Given the description of an element on the screen output the (x, y) to click on. 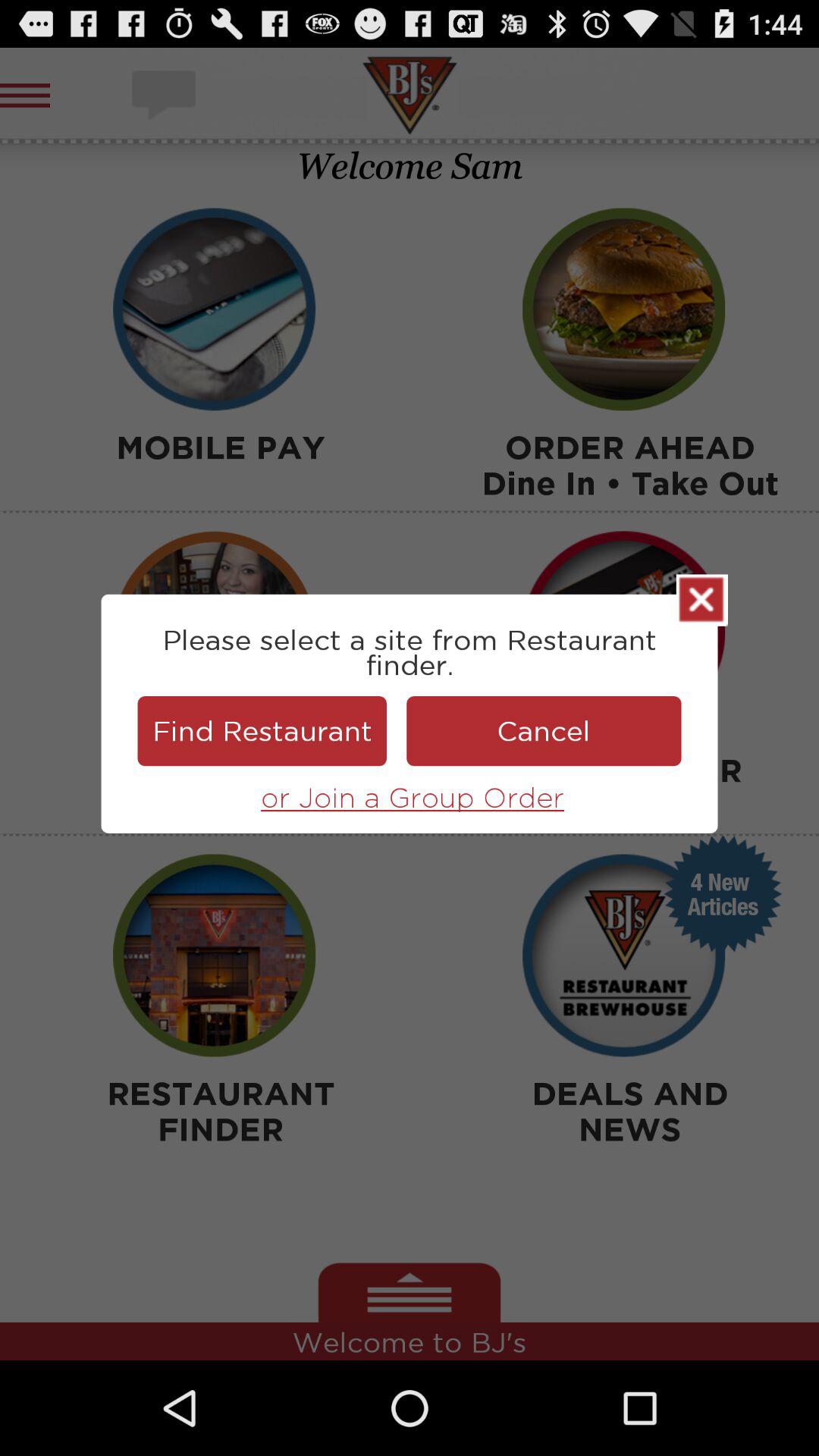
close (702, 600)
